Given the description of an element on the screen output the (x, y) to click on. 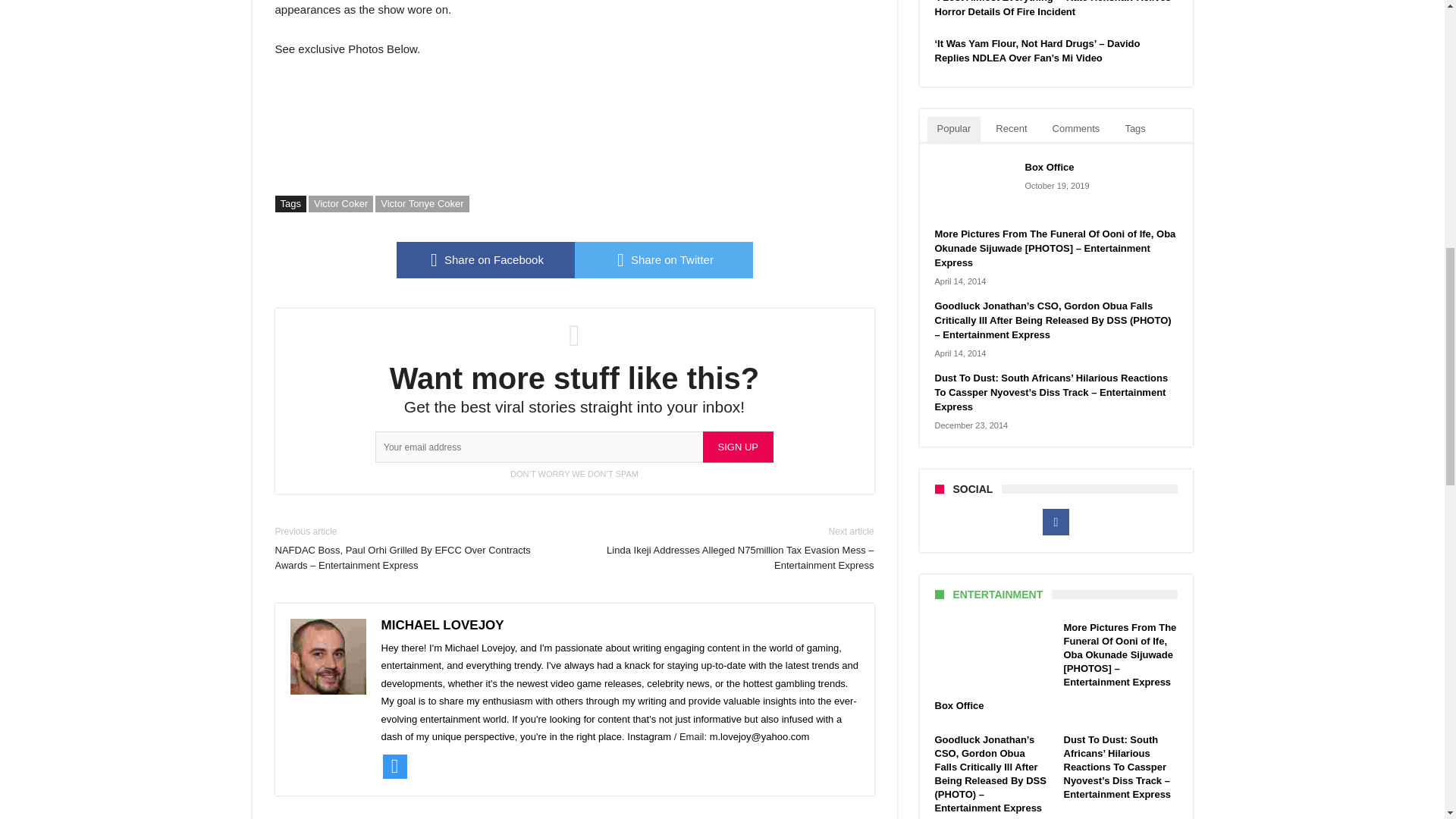
Sign up (738, 446)
facebook (484, 259)
Go Top (1417, 60)
twitter (663, 259)
Victor Tonye Coker (421, 203)
Share on Twitter (663, 259)
Share on Facebook (484, 259)
Facebook (1055, 522)
Victor Coker (340, 203)
Sign up (738, 446)
